Given the description of an element on the screen output the (x, y) to click on. 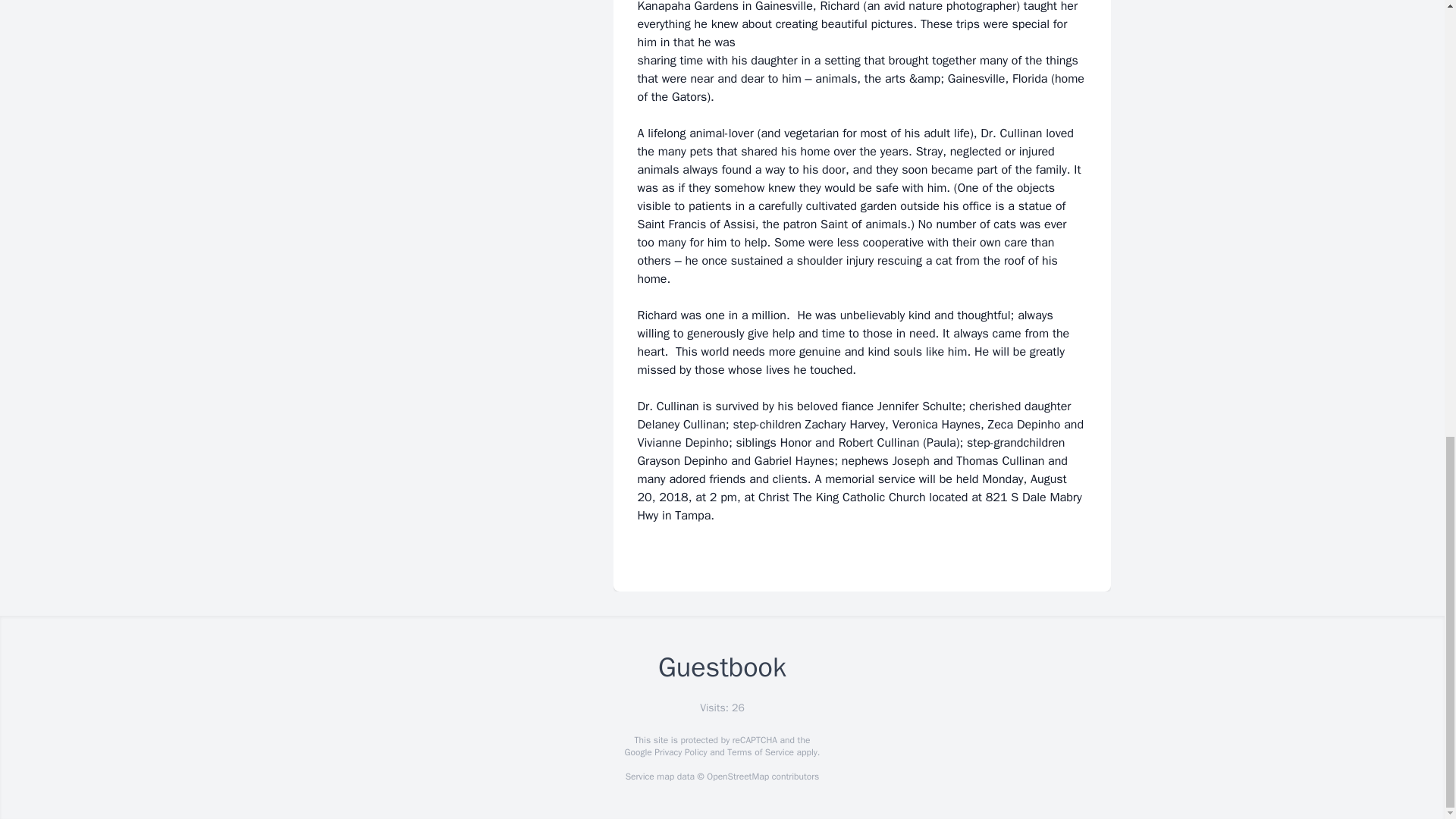
Terms of Service (759, 752)
Privacy Policy (679, 752)
OpenStreetMap (737, 776)
